Given the description of an element on the screen output the (x, y) to click on. 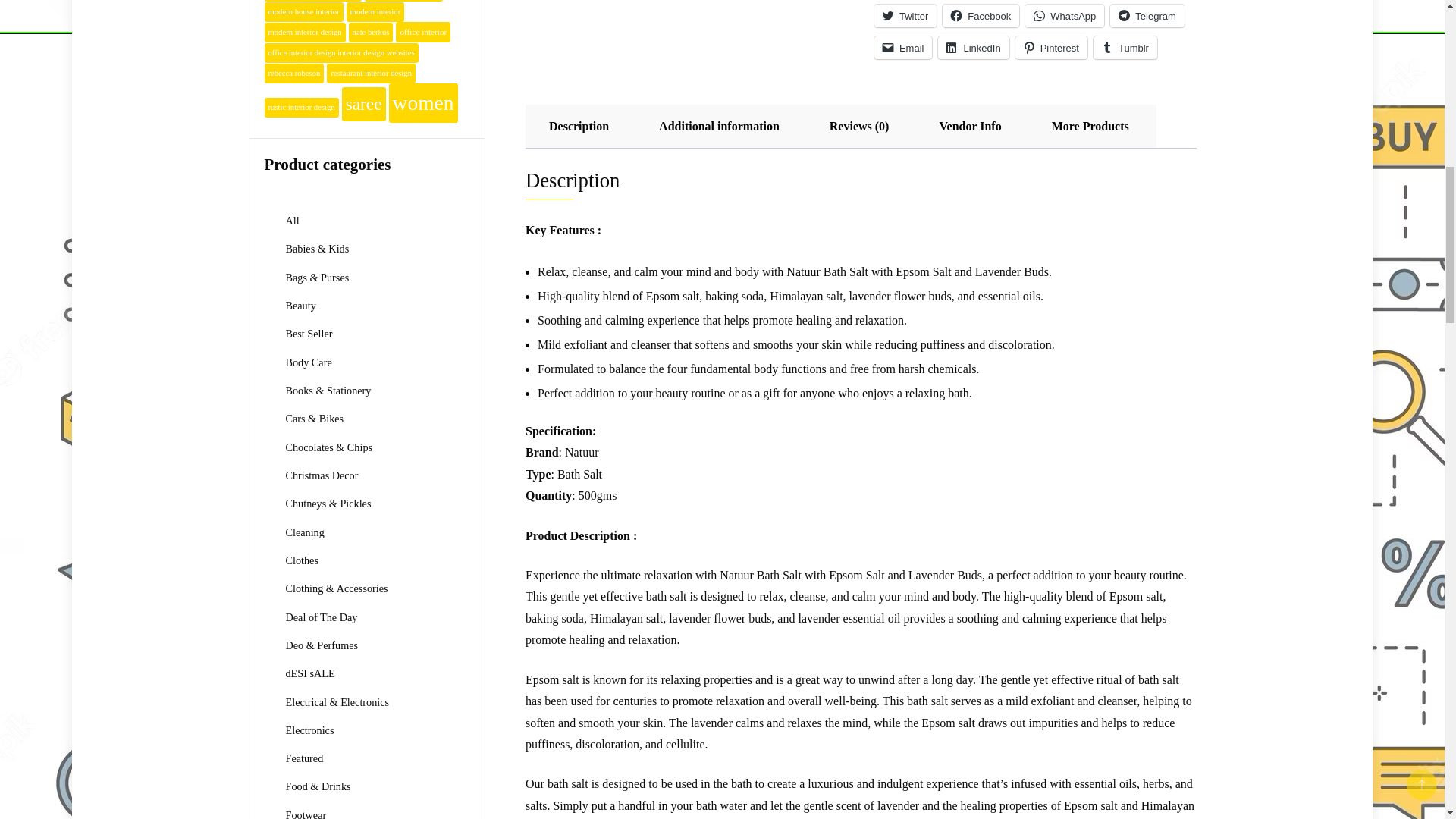
Click to share on WhatsApp (1064, 15)
Click to share on Telegram (1146, 15)
Click to share on Pinterest (1050, 47)
Click to share on Facebook (980, 15)
Click to share on LinkedIn (973, 47)
Click to share on Twitter (905, 15)
Click to email a link to a friend (904, 47)
